Given the description of an element on the screen output the (x, y) to click on. 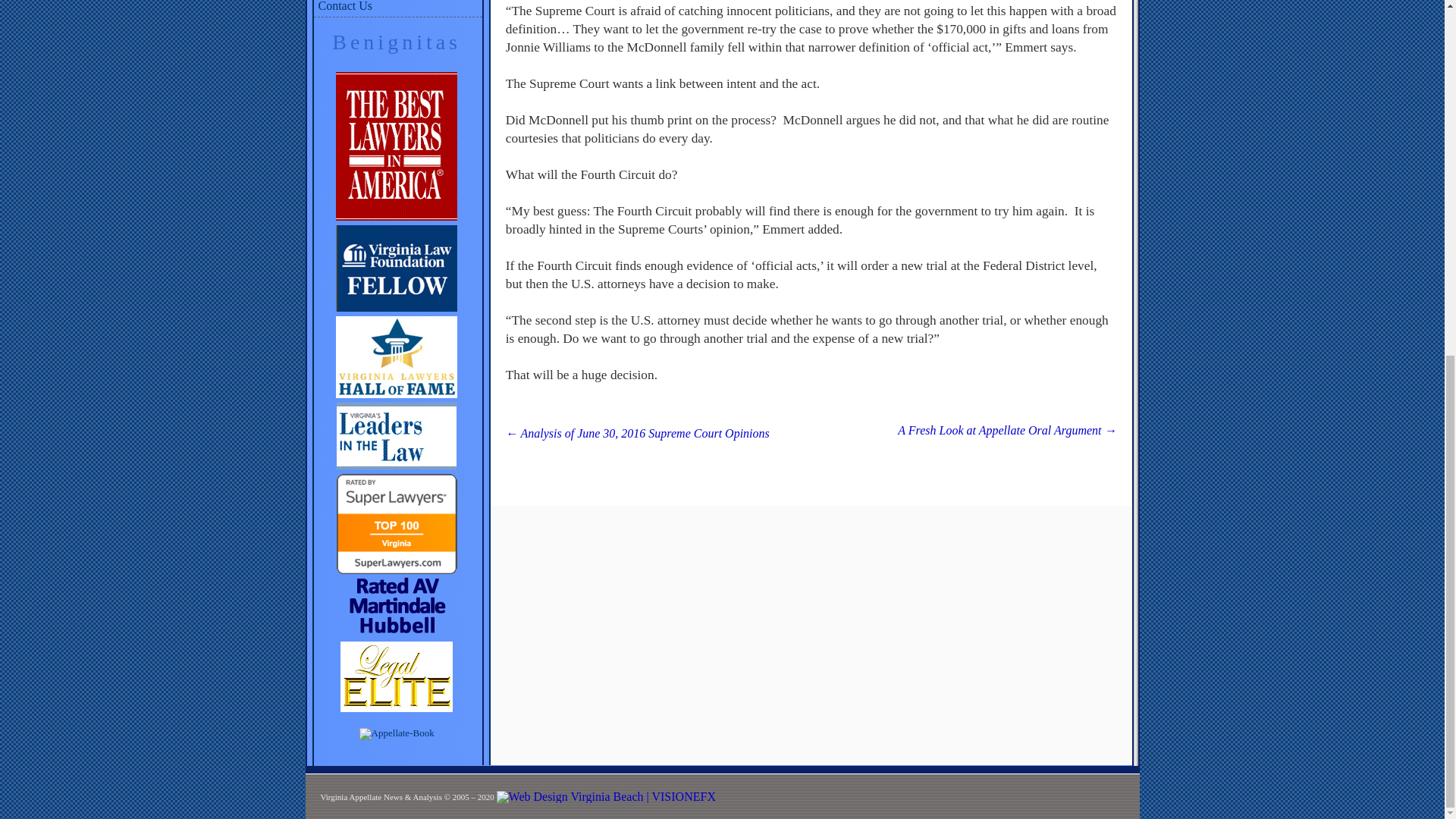
Contact Us (397, 8)
